Given the description of an element on the screen output the (x, y) to click on. 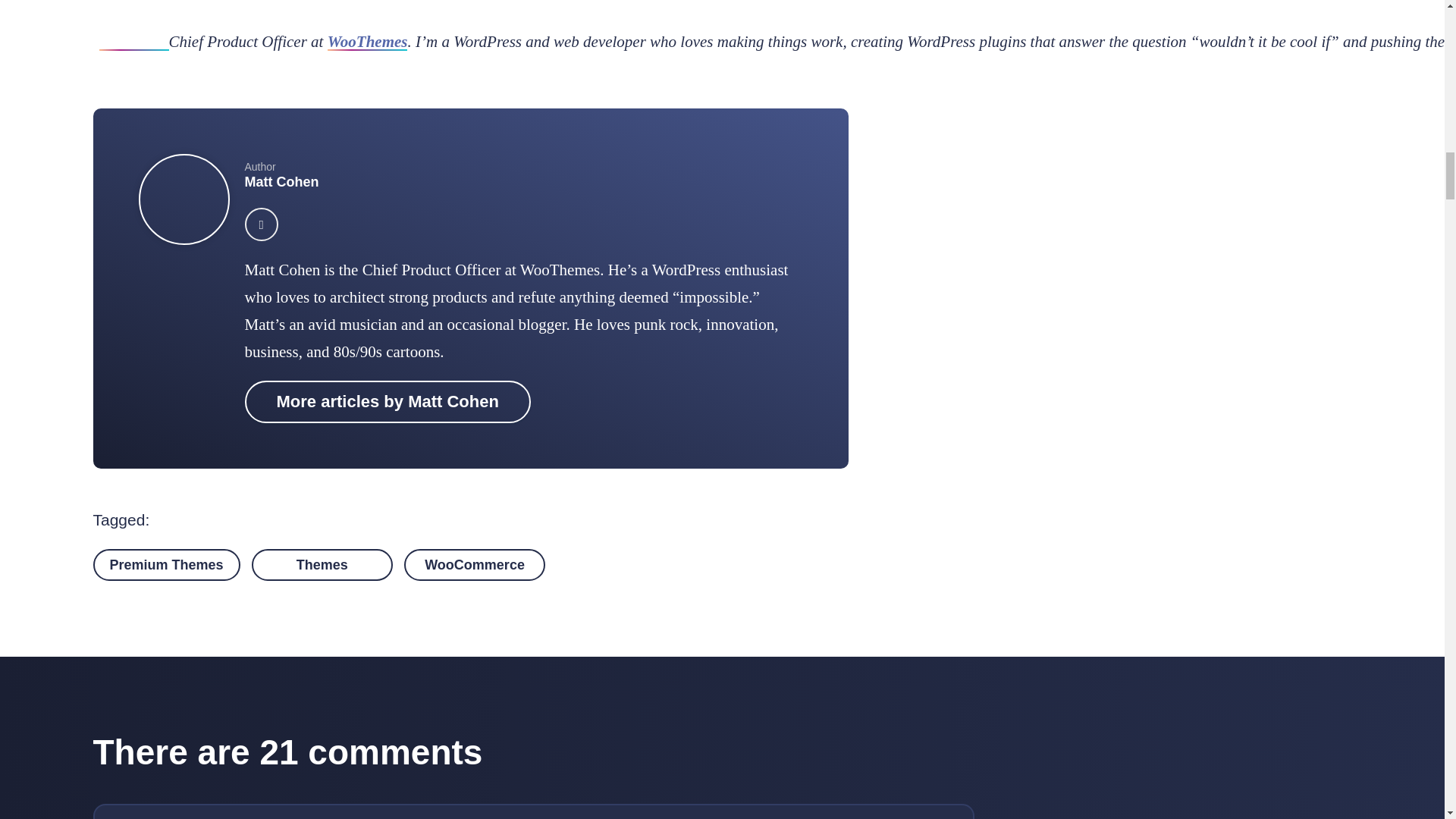
More articles by Matt Cohen (386, 401)
WooCommerce (474, 564)
Themes (322, 564)
WooThemes (367, 41)
Matt Cohen (281, 181)
Premium Themes (166, 564)
